Given the description of an element on the screen output the (x, y) to click on. 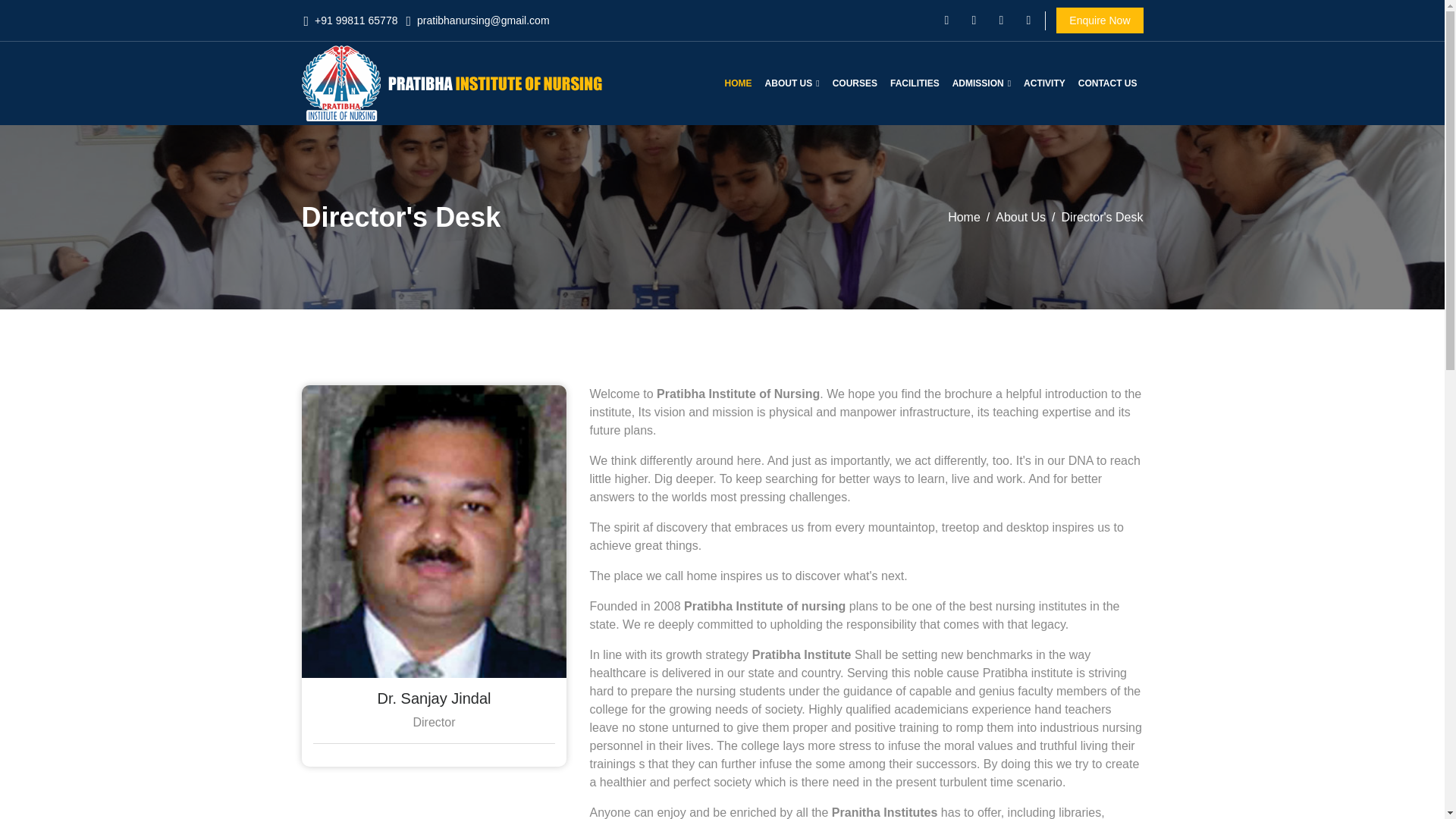
ADMISSION (981, 82)
FACILITIES (913, 82)
Pratibha Institute of Nursing (453, 83)
COURSES (855, 82)
Home (963, 216)
Enquire Now (1099, 20)
ABOUT US (791, 82)
ACTIVITY (1044, 82)
CONTACT US (1106, 82)
